Given the description of an element on the screen output the (x, y) to click on. 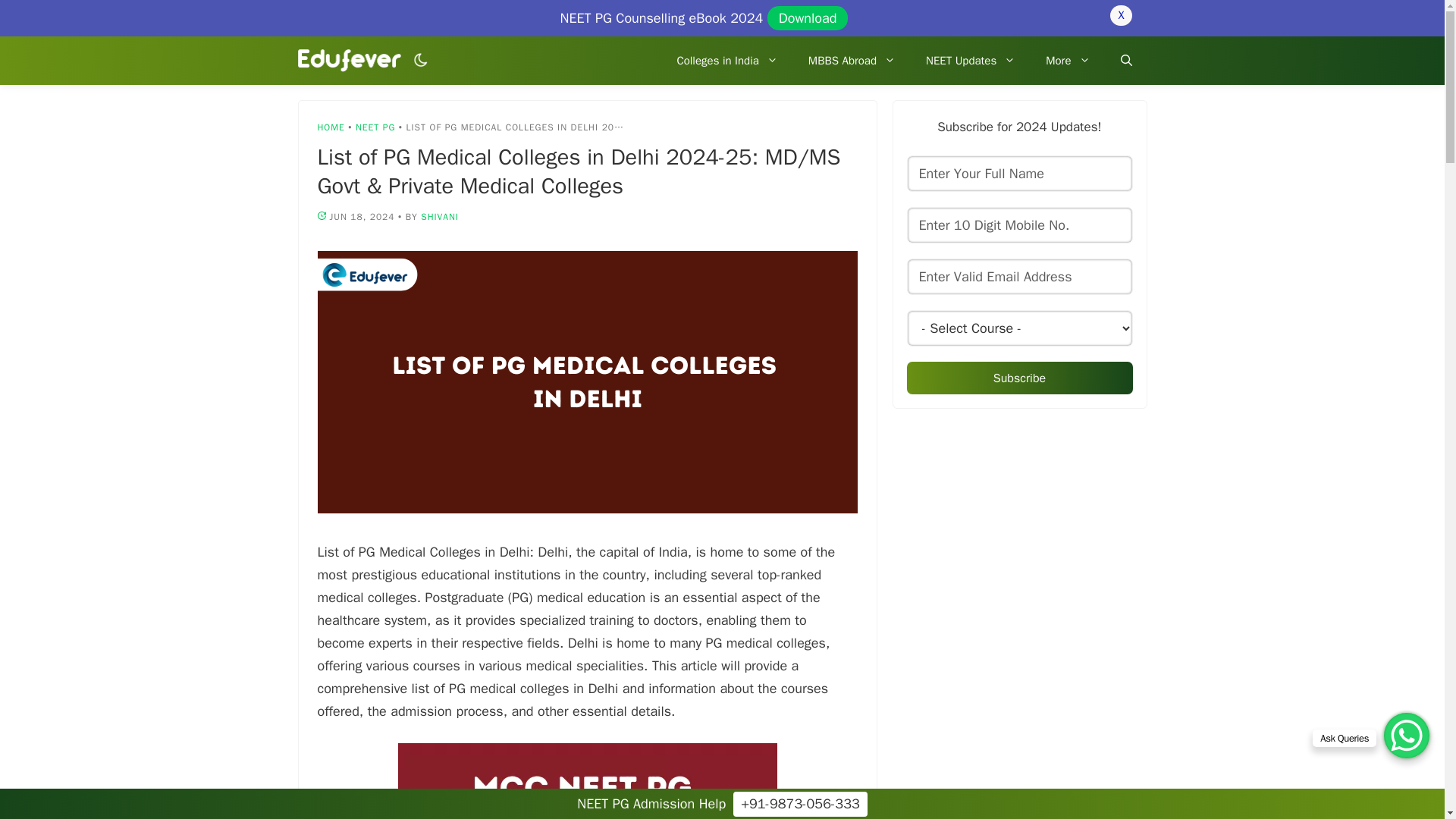
View all posts by Shivani (439, 216)
Edufever (353, 60)
Edufever (349, 60)
X (1120, 14)
Download (807, 17)
